Given the description of an element on the screen output the (x, y) to click on. 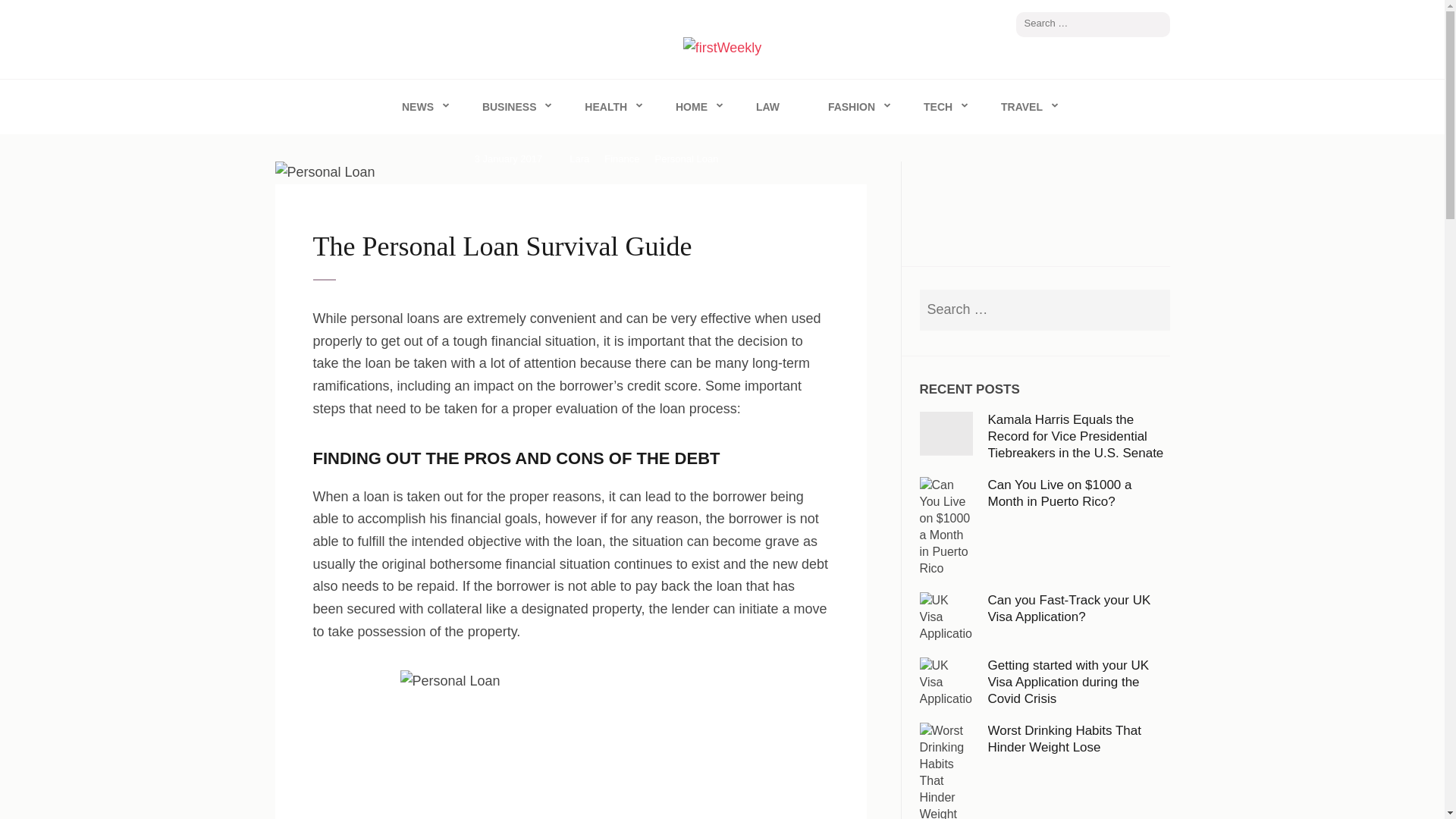
Search (1150, 309)
Search (1158, 24)
Search (1150, 309)
Search (1158, 24)
